Given the description of an element on the screen output the (x, y) to click on. 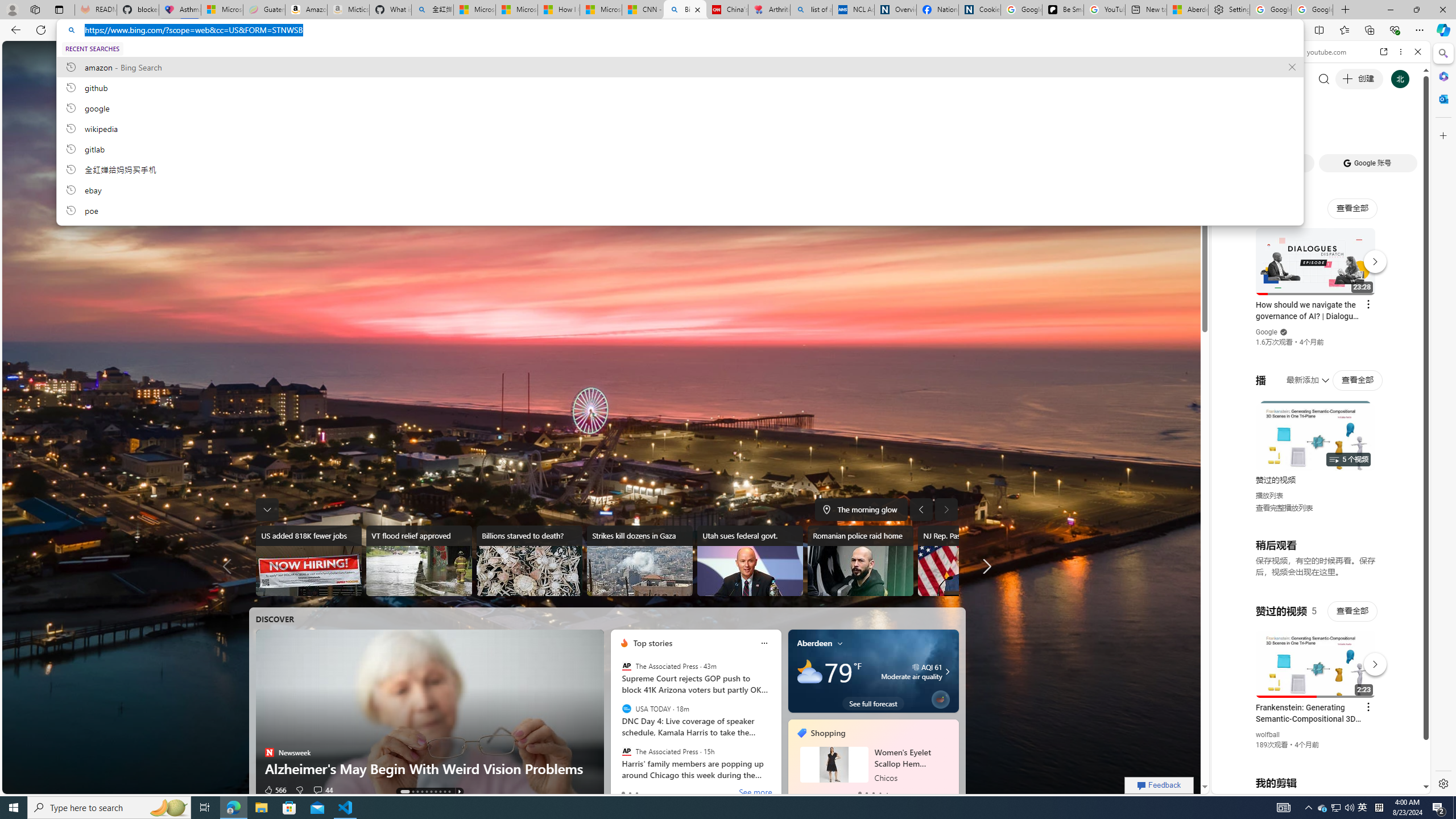
US[ju] (1249, 785)
SEARCH TOOLS (1350, 130)
Aberdeen (814, 643)
Search Filter, VIDEOS (1300, 129)
wolfball (1268, 734)
tab-3 (879, 793)
Close Customize pane (1442, 135)
Search using an image (801, 205)
Close tab (697, 9)
Workspaces (34, 9)
Restore (1416, 9)
IMAGES (1262, 130)
